Given the description of an element on the screen output the (x, y) to click on. 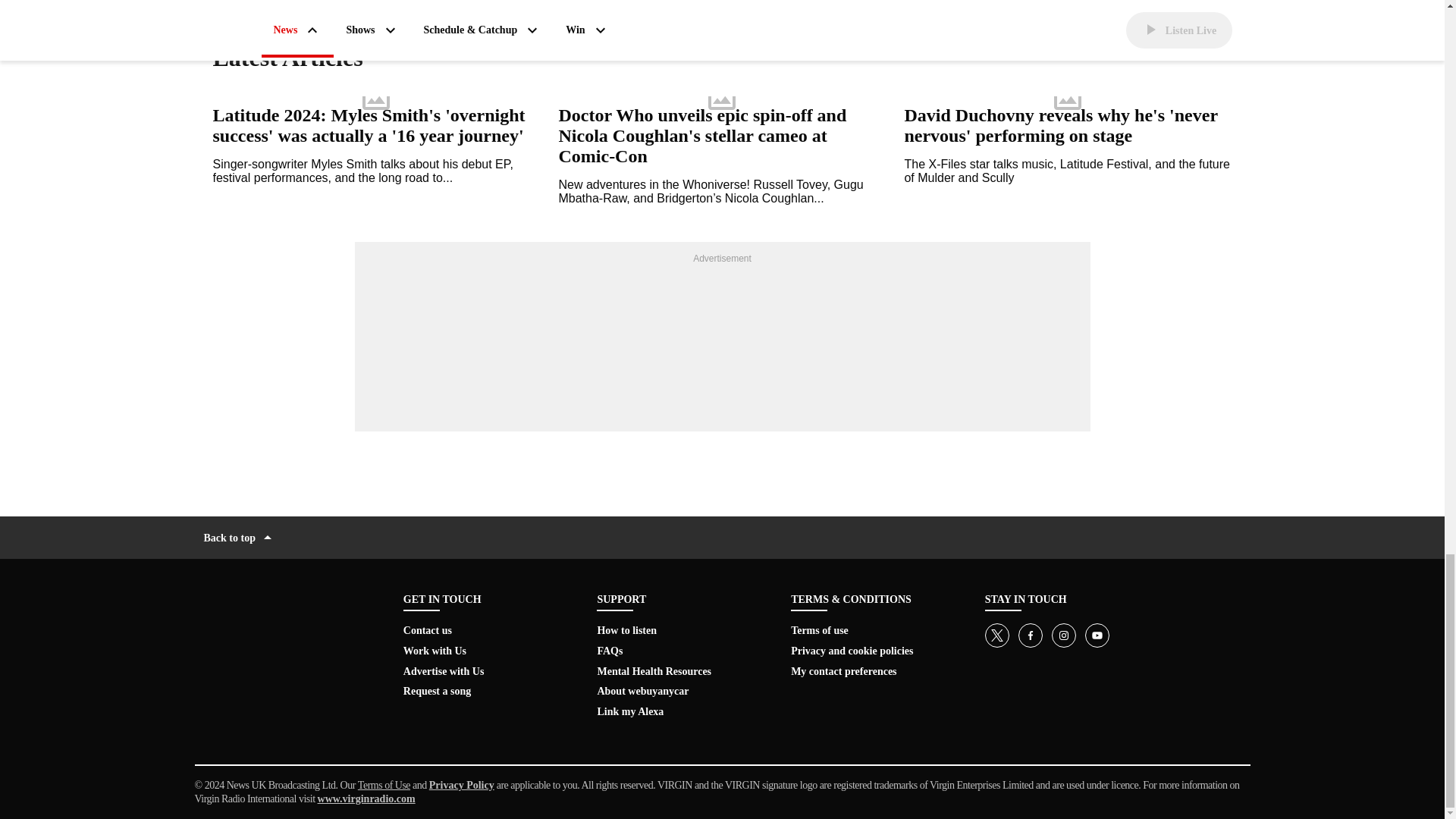
Back to top (239, 537)
Contact us (427, 630)
